Given the description of an element on the screen output the (x, y) to click on. 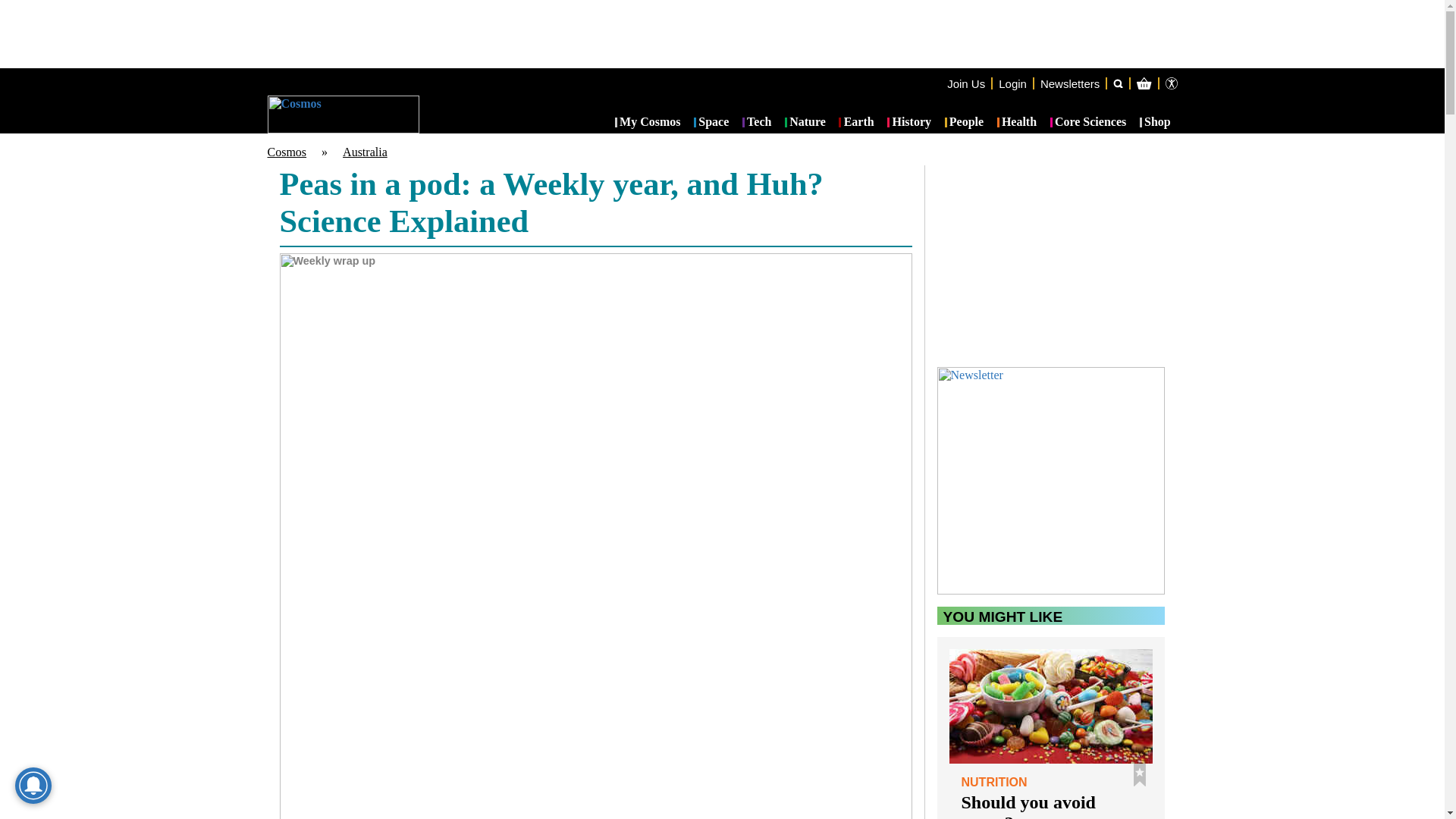
My Cosmos (647, 122)
Space (711, 122)
People (964, 122)
Nature (804, 122)
Shop (1155, 122)
Tech (756, 122)
Health (1016, 122)
Newsletters (1070, 82)
Login (1012, 82)
Join Us (966, 82)
